Given the description of an element on the screen output the (x, y) to click on. 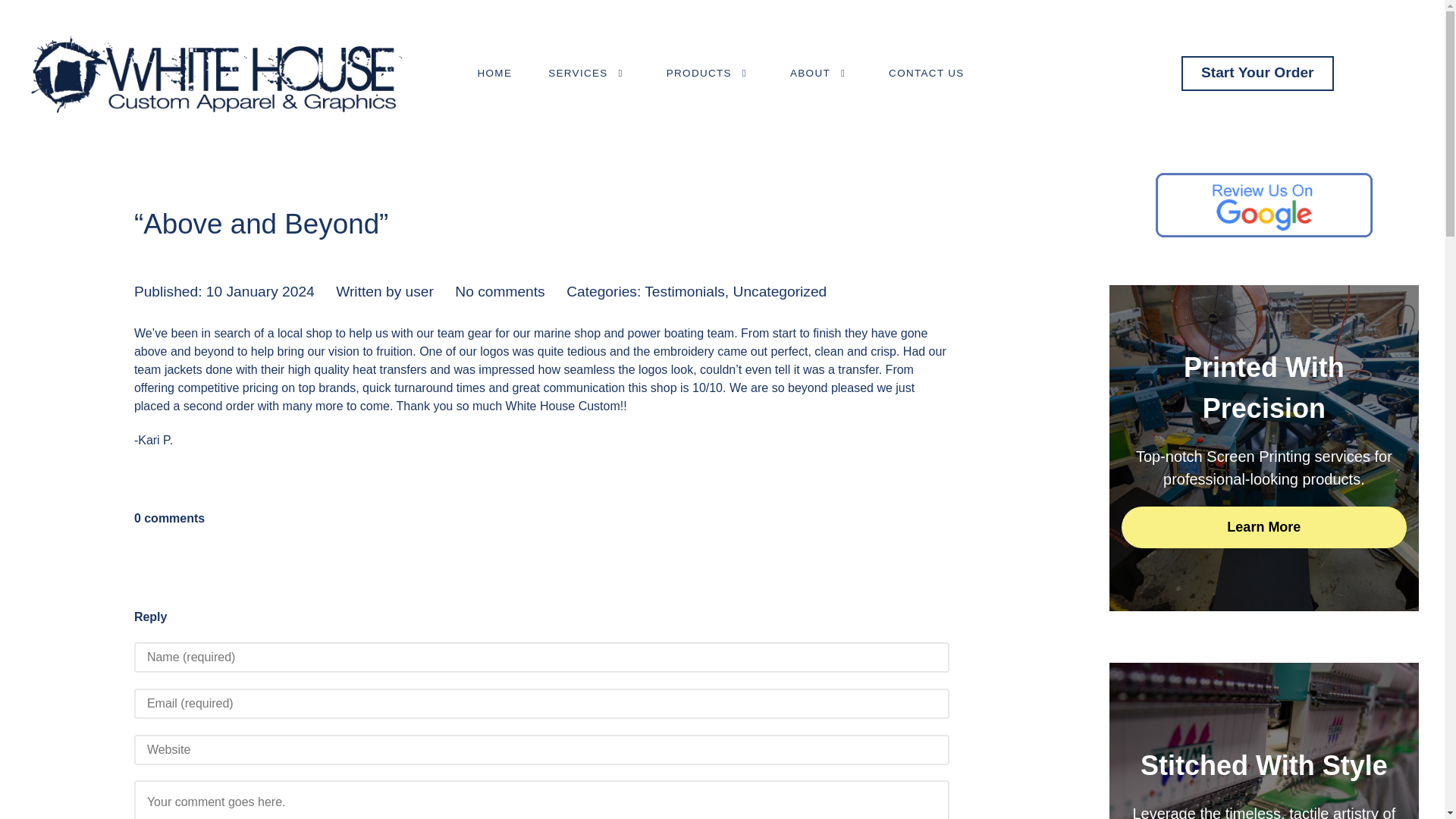
ABOUT (820, 72)
CONTACT US (926, 72)
SERVICES (588, 72)
Testimonials (685, 291)
10 January 2024 (260, 291)
Start Your Order (1256, 73)
PRODUCTS (709, 72)
Testimonials (685, 291)
user (419, 291)
Start Your Order (1256, 73)
